Given the description of an element on the screen output the (x, y) to click on. 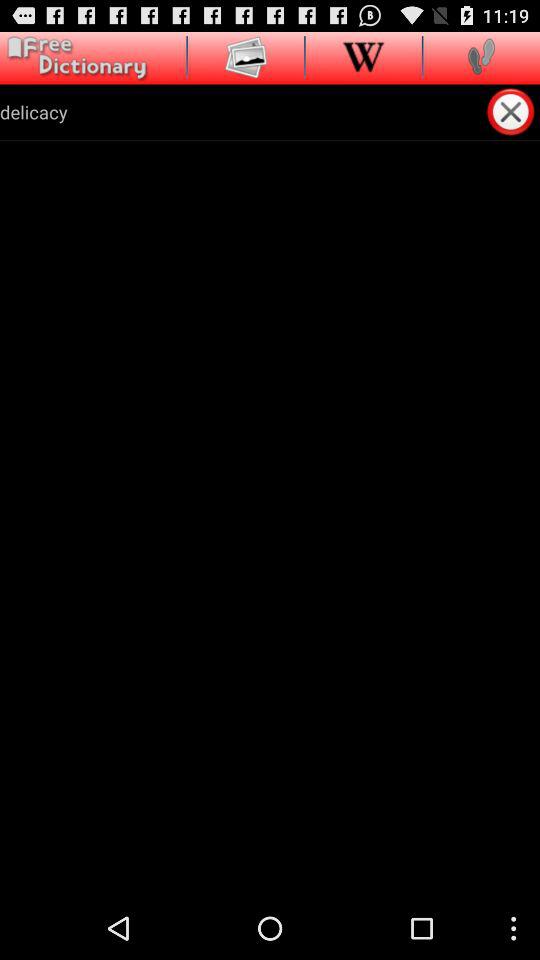
open photos (246, 56)
